Given the description of an element on the screen output the (x, y) to click on. 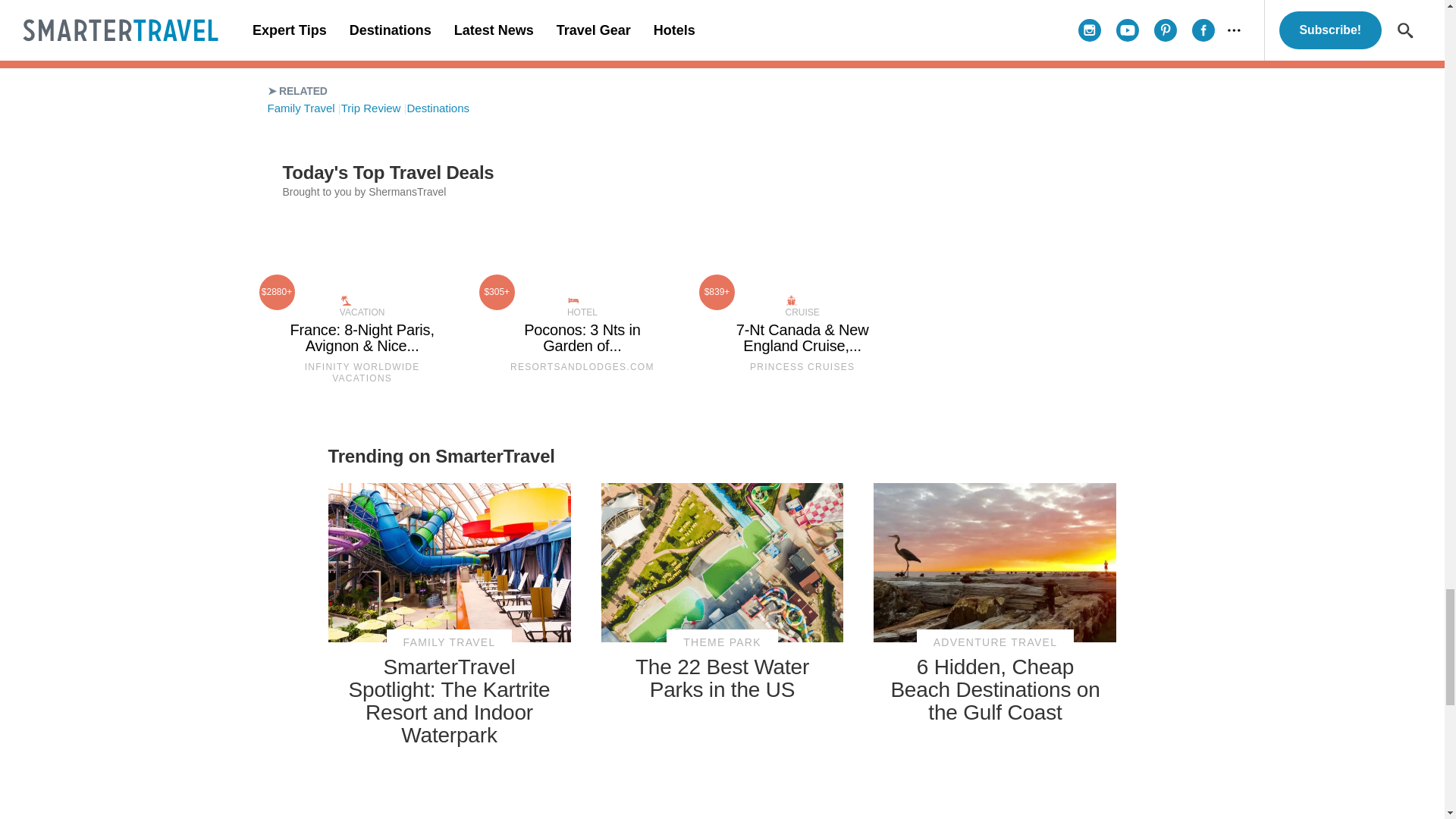
View all posts in Family Travel (449, 642)
View all posts in Adventure Travel (995, 642)
View all posts in Theme Park (721, 642)
